Given the description of an element on the screen output the (x, y) to click on. 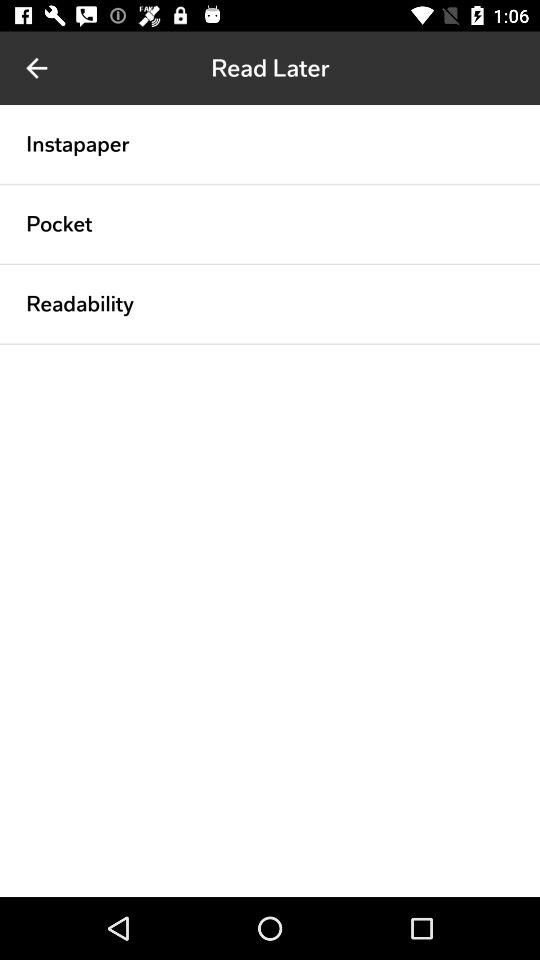
choose the icon above the pocket item (270, 184)
